Given the description of an element on the screen output the (x, y) to click on. 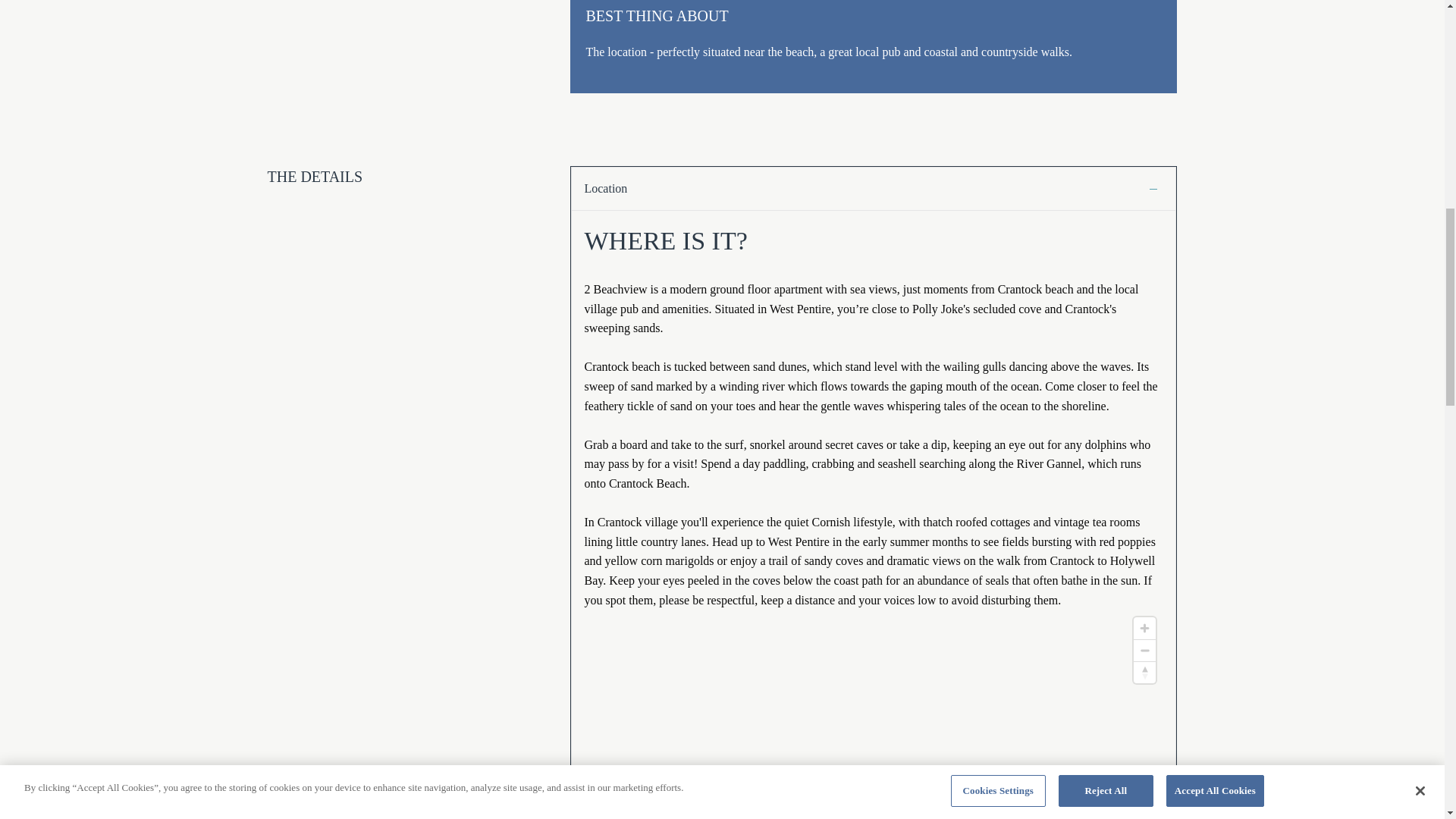
Zoom out (1145, 649)
Reset bearing to north (1145, 672)
Zoom in (1145, 628)
